Given the description of an element on the screen output the (x, y) to click on. 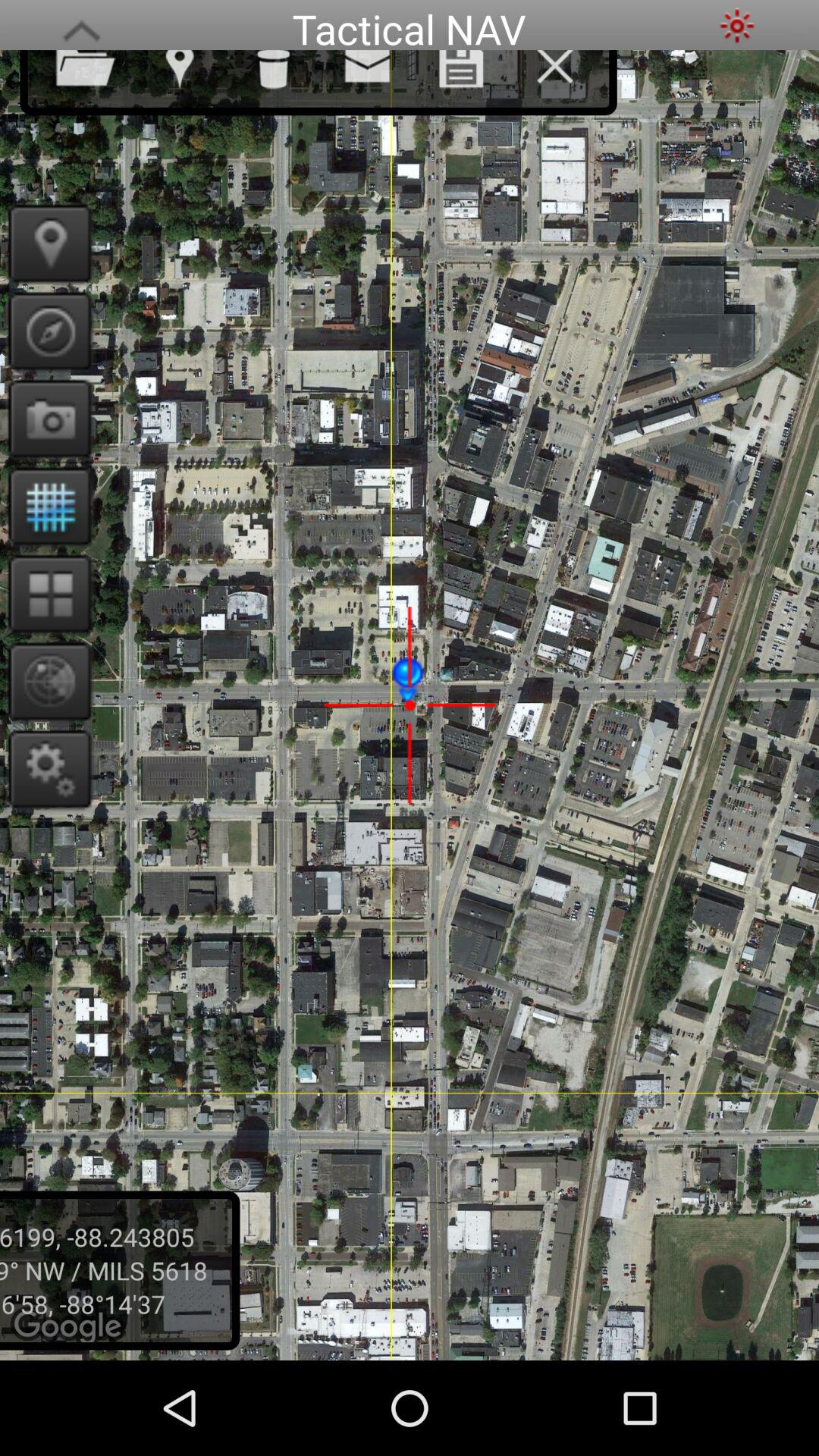
the place you are looking for (45, 243)
